Given the description of an element on the screen output the (x, y) to click on. 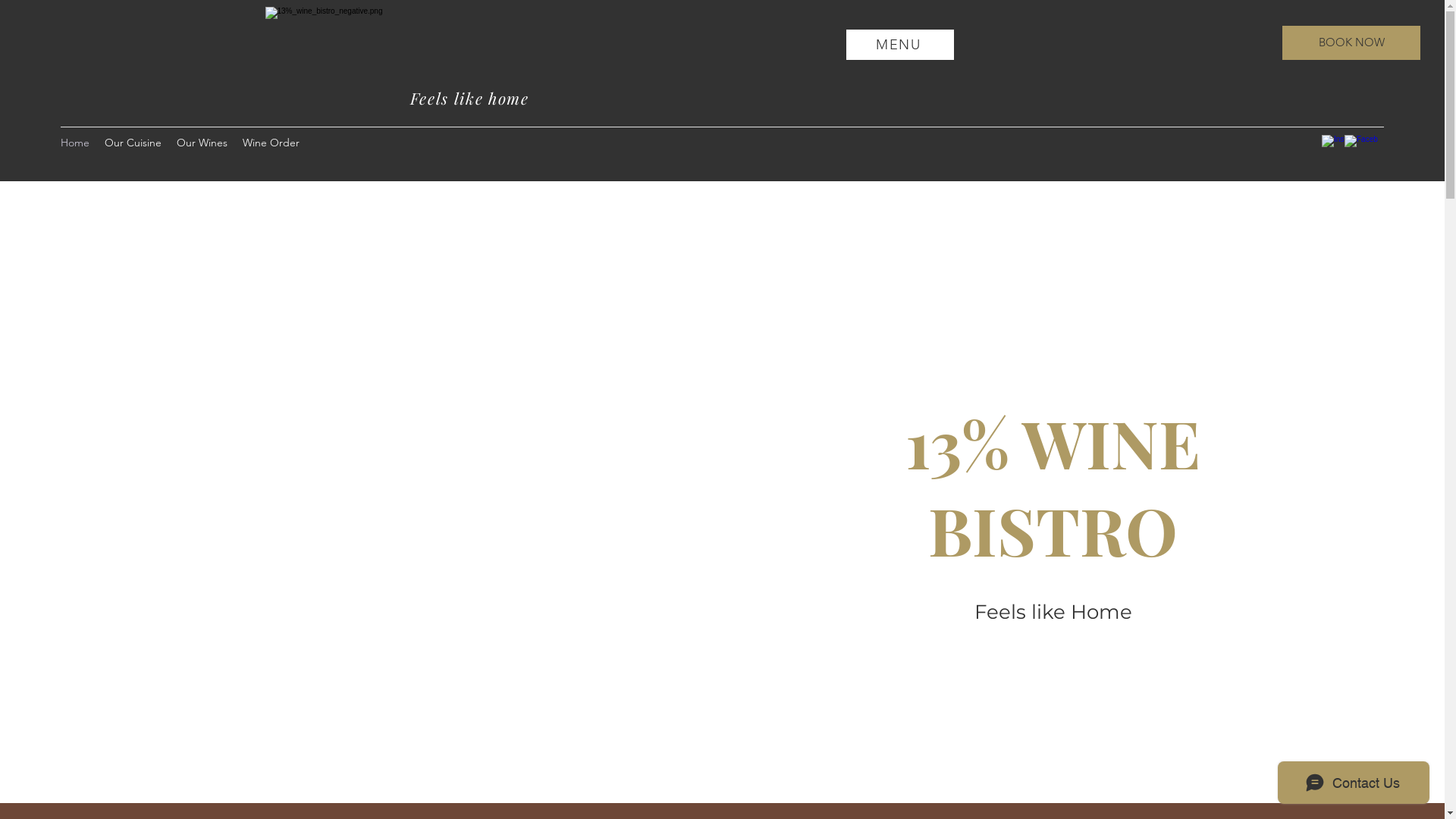
BOOK NOW Element type: text (1351, 42)
Home Element type: text (75, 142)
Our Cuisine Element type: text (133, 142)
Wine Order Element type: text (271, 142)
MENU Element type: text (899, 44)
Our Wines Element type: text (202, 142)
